Given the description of an element on the screen output the (x, y) to click on. 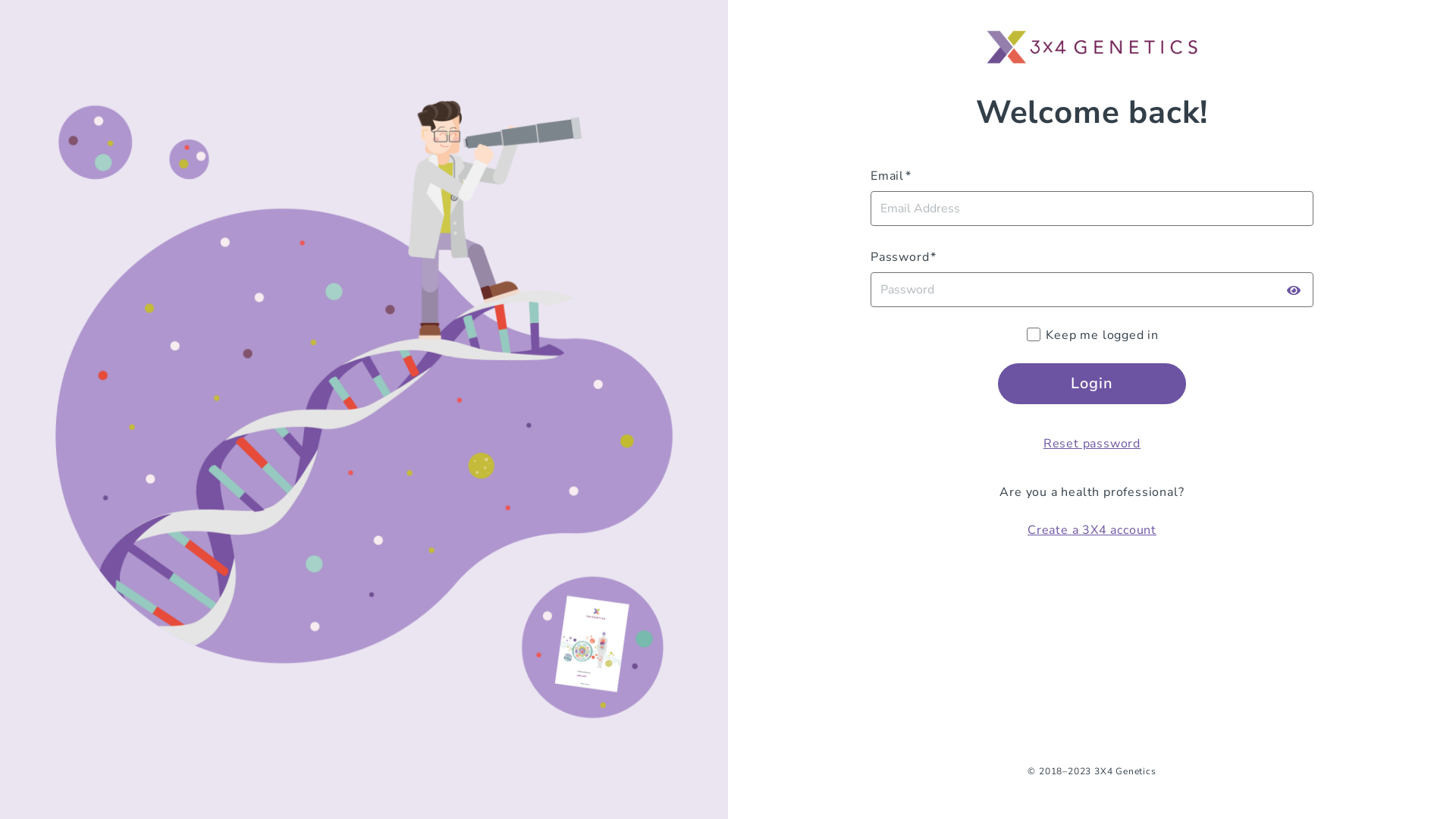
Reset password Element type: text (1091, 443)
Create a 3X4 account Element type: text (1091, 529)
Login Element type: text (1091, 383)
